Given the description of an element on the screen output the (x, y) to click on. 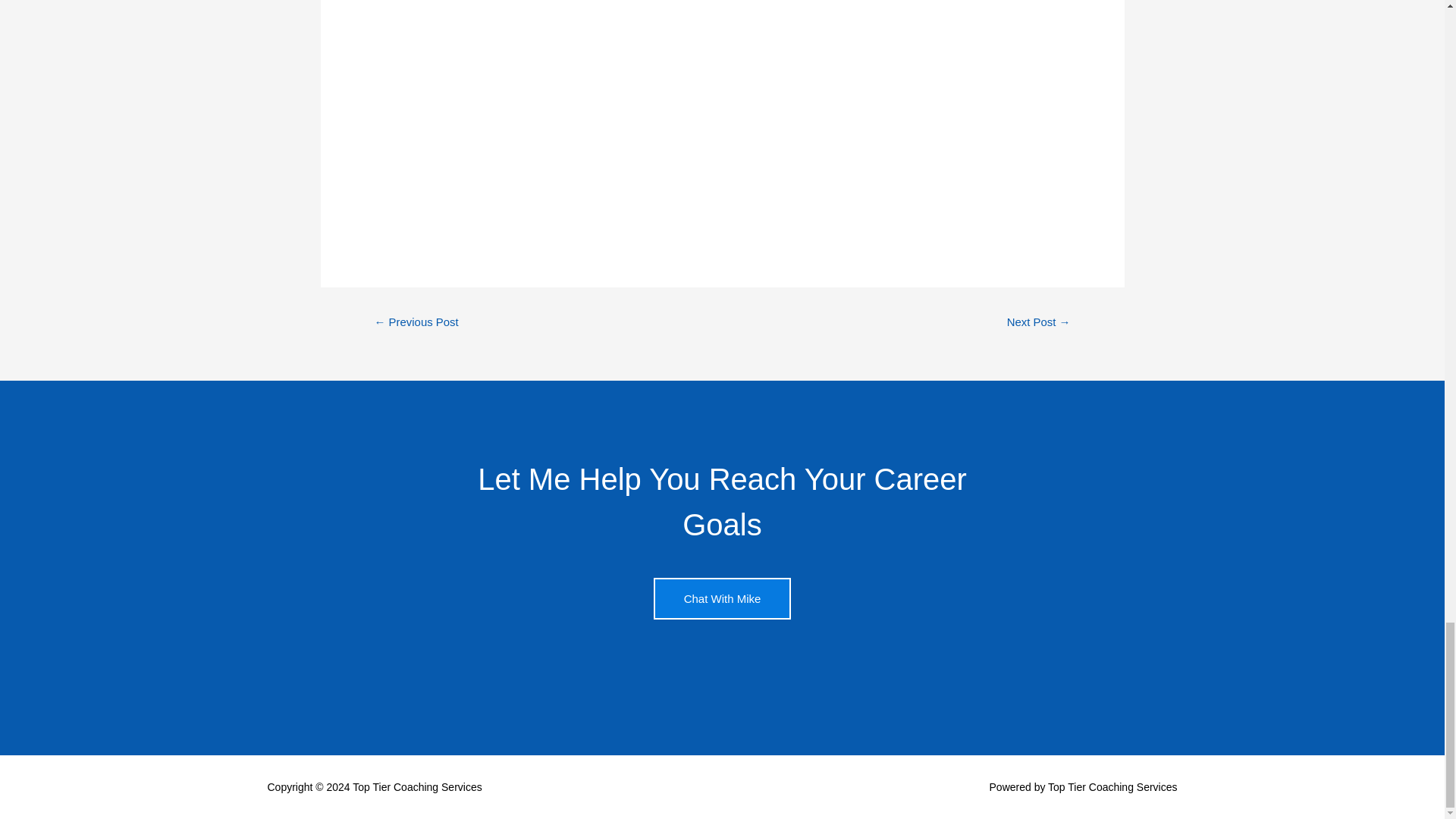
Episode 005: Hiring and Retaining Top Talent (416, 323)
GTLE006 CTO Stories That Need to be Told (721, 31)
